Given the description of an element on the screen output the (x, y) to click on. 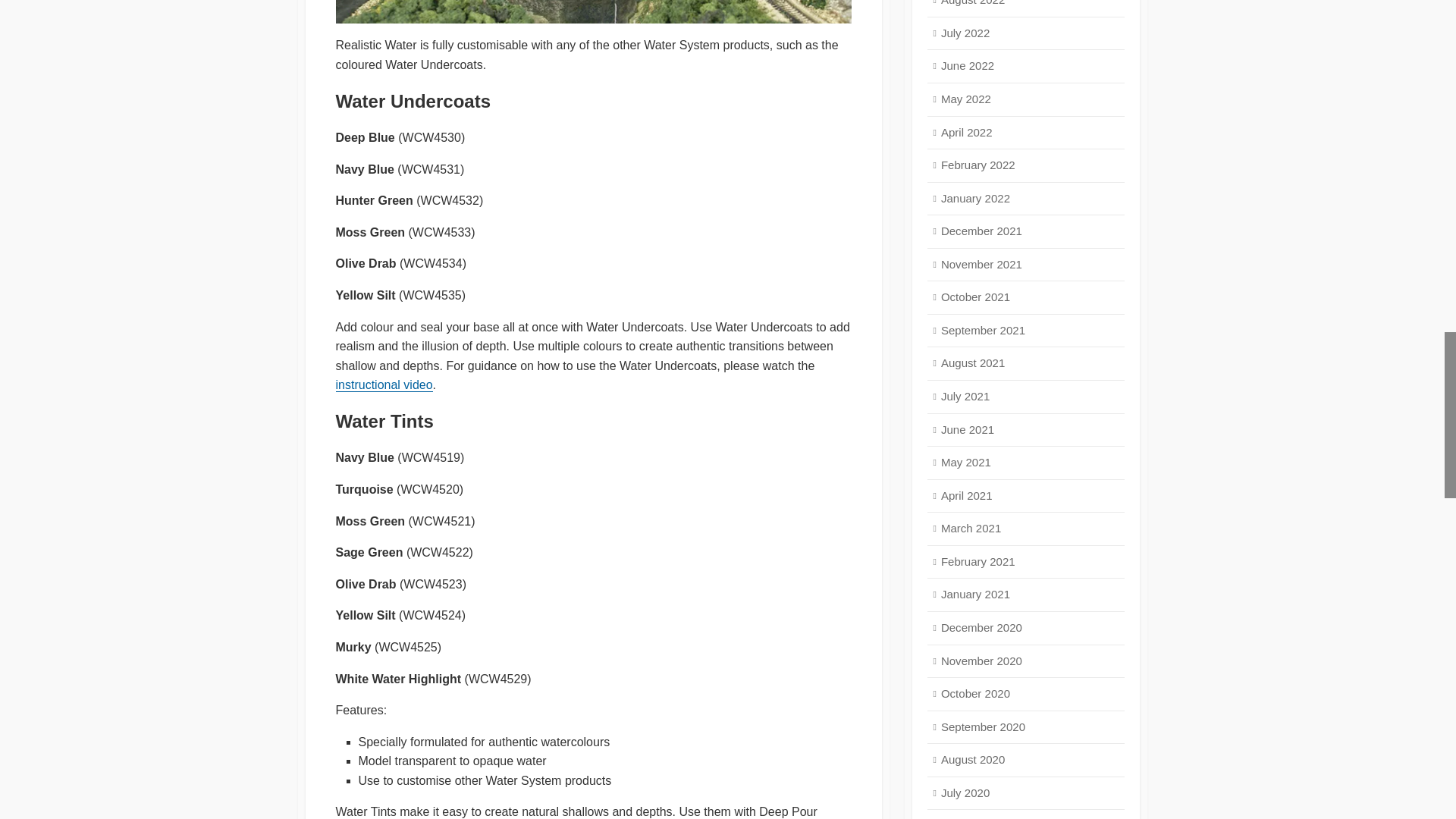
instructional video (383, 384)
Showing the ease of the Woodland Scenics Water System (592, 12)
